Given the description of an element on the screen output the (x, y) to click on. 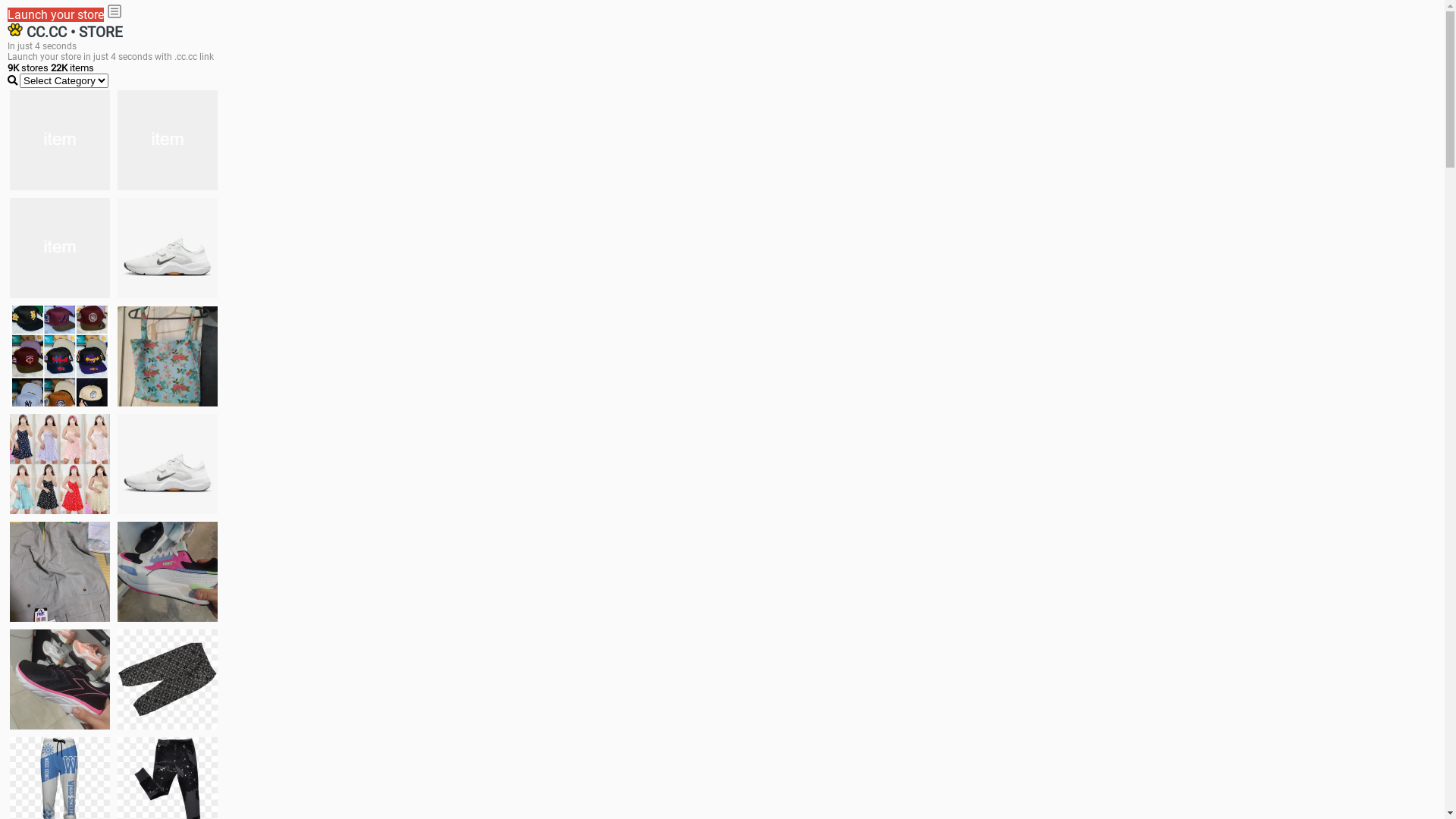
Launch your store Element type: text (55, 14)
jacket Element type: hover (59, 140)
Shoes for boys Element type: hover (167, 247)
white shoes Element type: hover (167, 140)
Shoes Element type: hover (167, 464)
Short pant Element type: hover (167, 679)
shoes for boys Element type: hover (59, 247)
Zapatillas Element type: hover (59, 679)
Zapatillas pumas Element type: hover (167, 571)
Things we need Element type: hover (59, 355)
Ukay cloth Element type: hover (167, 356)
Dress/square nect top Element type: hover (59, 464)
